Given the description of an element on the screen output the (x, y) to click on. 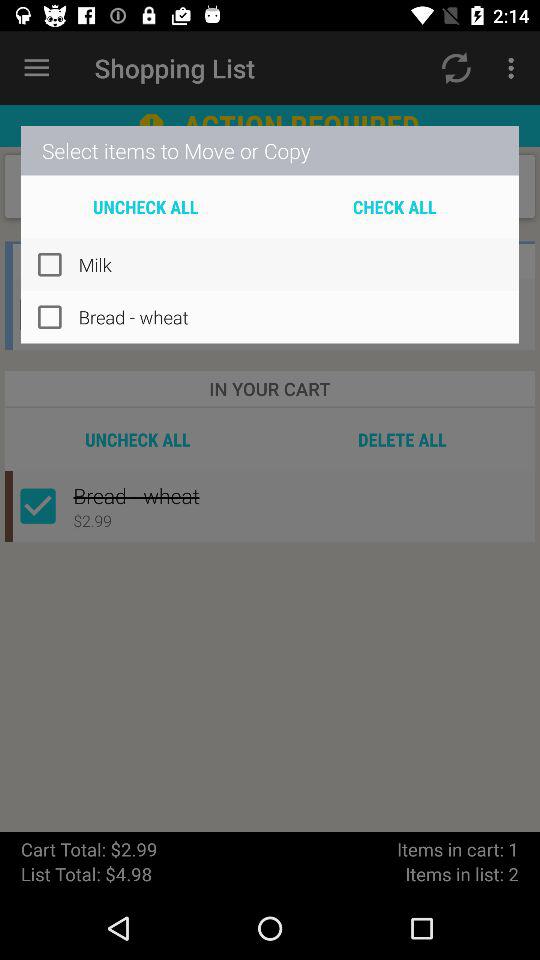
turn on the item to the right of the uncheck all (394, 206)
